Given the description of an element on the screen output the (x, y) to click on. 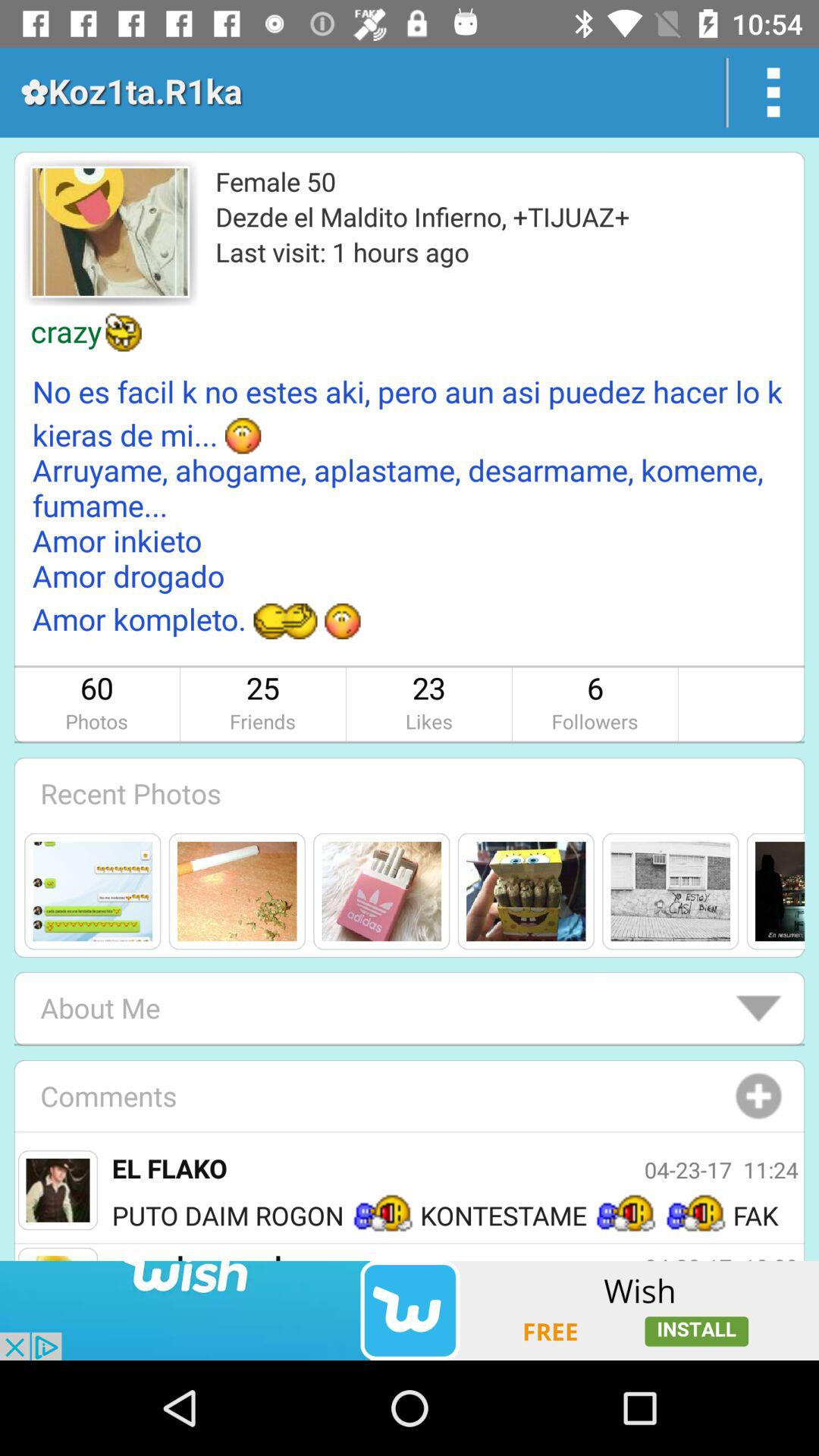
select icon which is after crazy (123, 331)
click on the fifth image below the recent photos (670, 890)
select 23 likes which is at the middle of the page (428, 704)
